Given the description of an element on the screen output the (x, y) to click on. 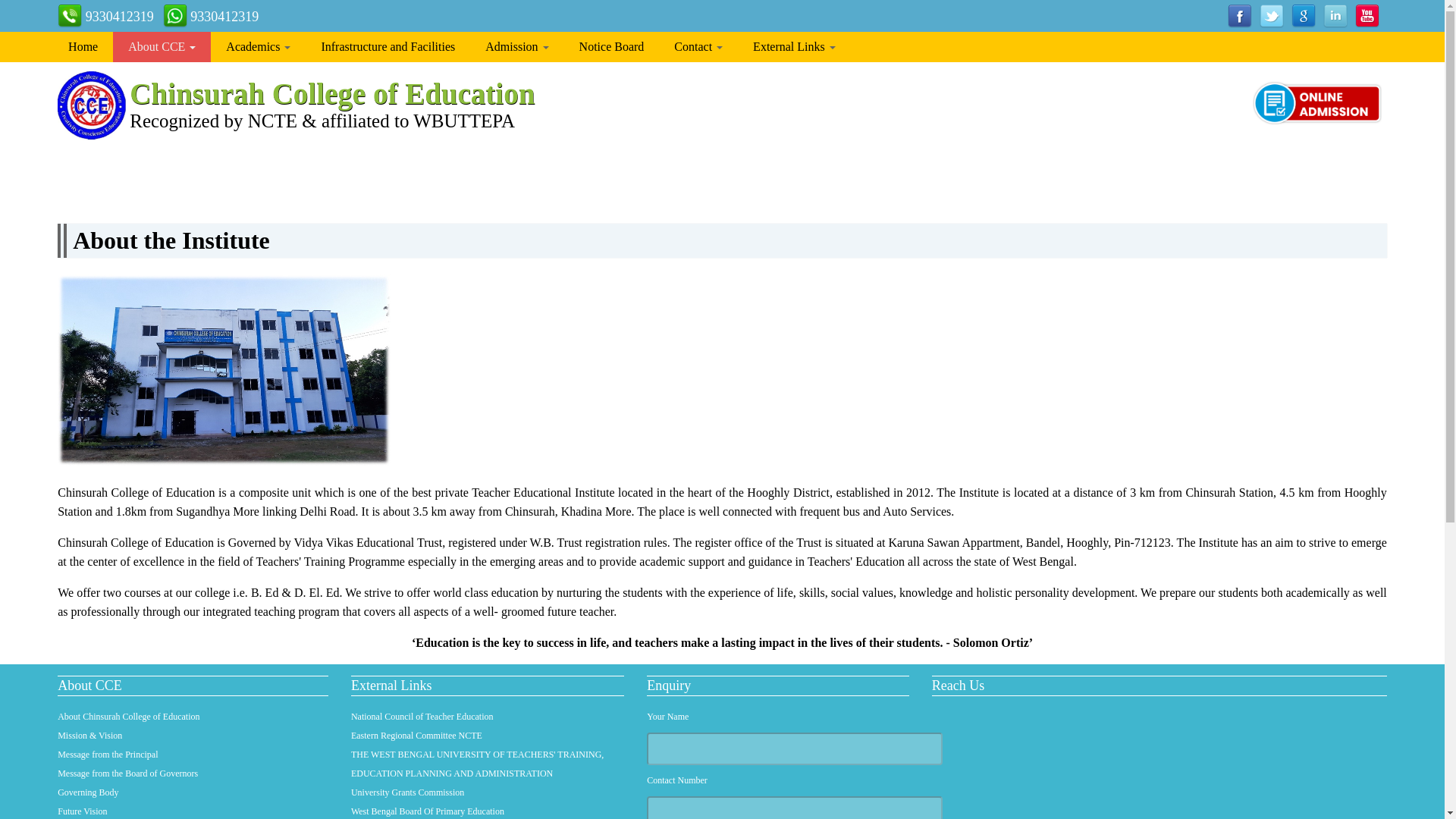
Message from the Board of Governors (128, 773)
Message from the Principal (107, 754)
 9330412319 (106, 19)
Home (82, 46)
Future Vision (82, 810)
Governing Body (87, 792)
Infrastructure and Facilities (387, 46)
 9330412319 (211, 19)
About Chinsurah College of Education (128, 716)
